Given the description of an element on the screen output the (x, y) to click on. 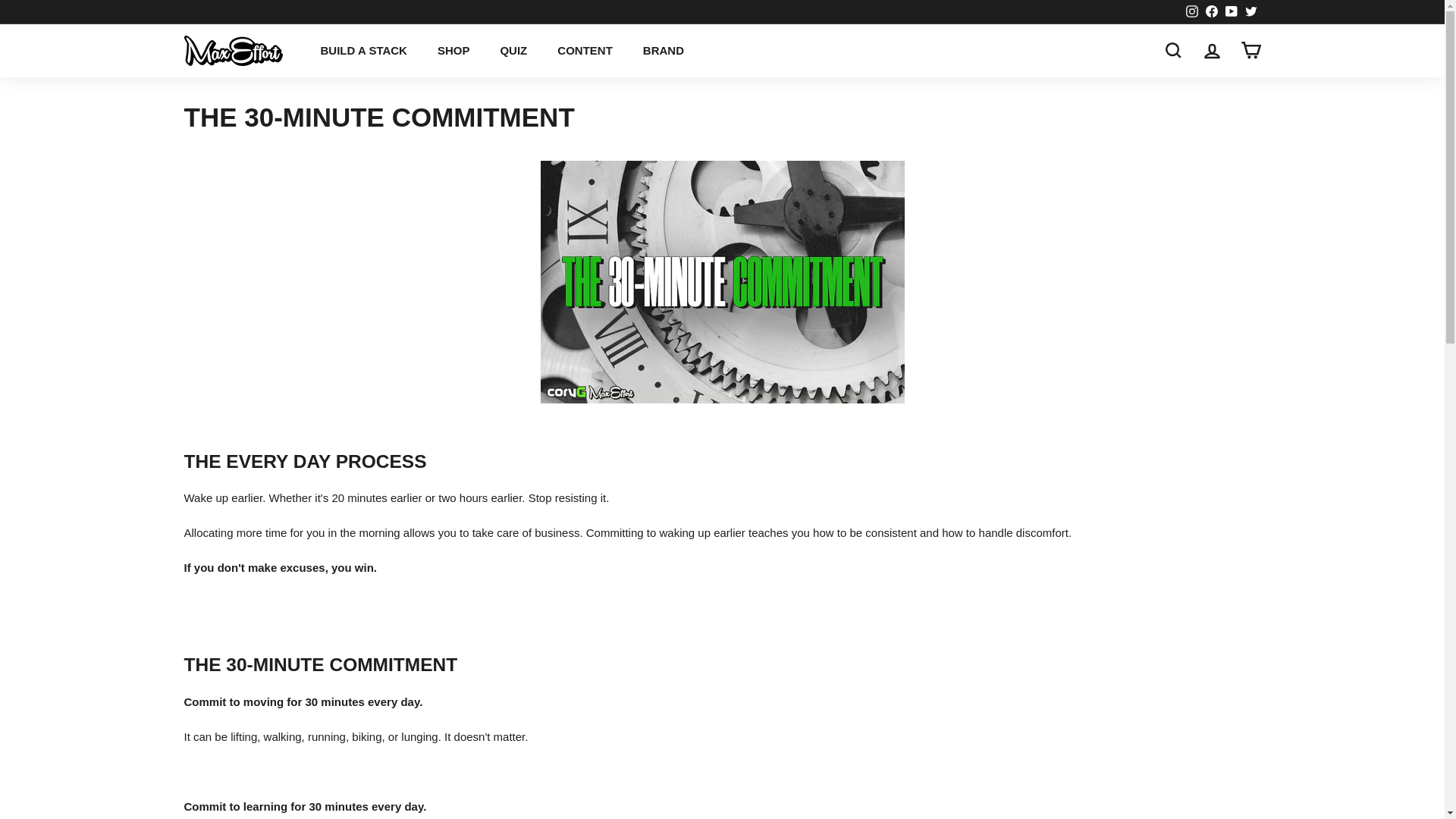
Instagram (1190, 11)
Twitter (1250, 11)
Max Effort Muscle on Twitter (1250, 11)
BUILD A STACK (363, 49)
YouTube (1230, 11)
Max Effort Muscle on YouTube (1230, 11)
SHOP (453, 49)
Max Effort Muscle on Facebook (1211, 11)
Max Effort Muscle on Instagram (1190, 11)
Facebook (1211, 11)
